Given the description of an element on the screen output the (x, y) to click on. 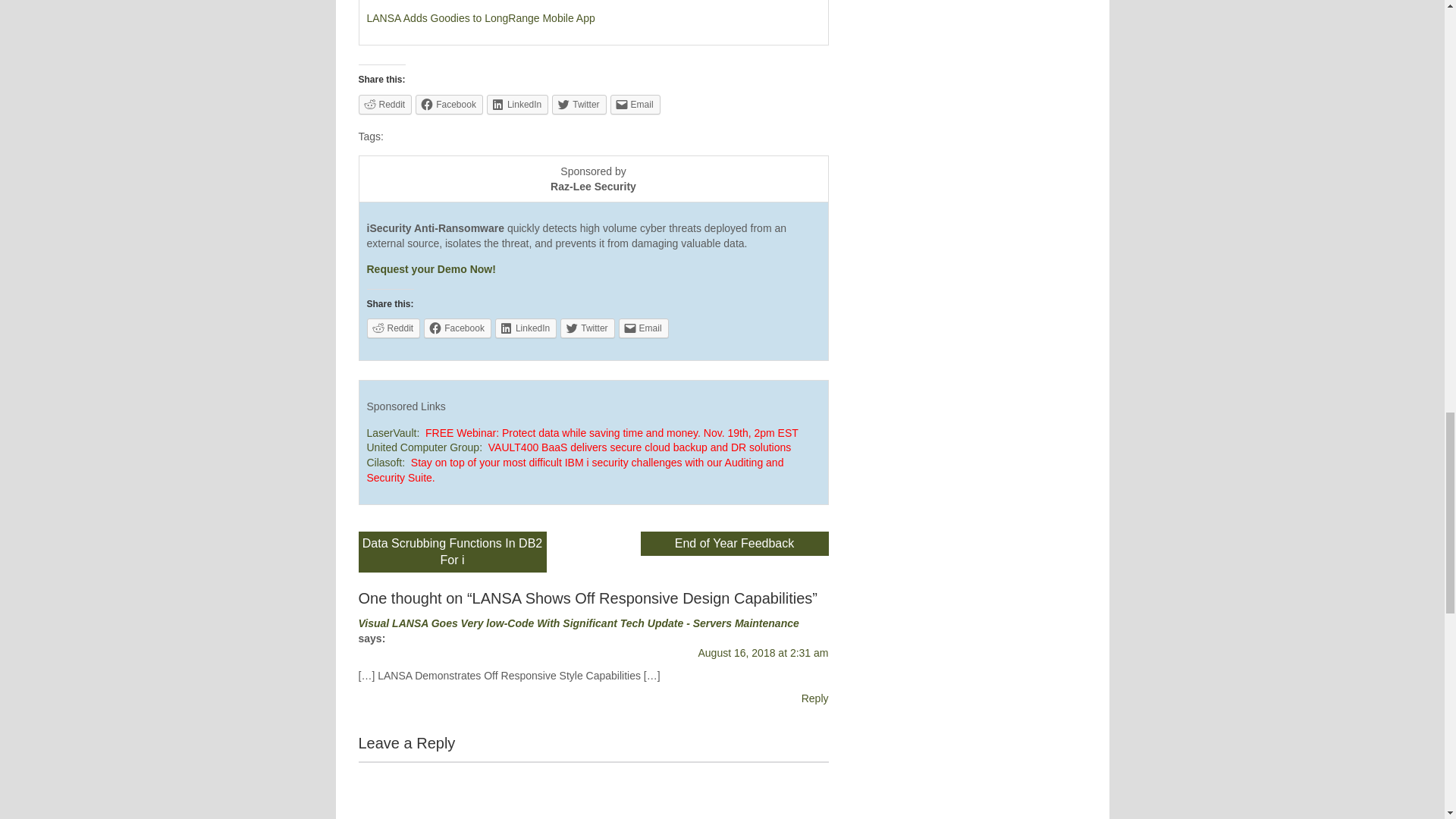
Data Scrubbing Functions In DB2 For i (452, 551)
Click to share on Facebook (448, 104)
Comment Form (593, 790)
LANSA Adds Goodies to LongRange Mobile App (480, 18)
Click to share on Twitter (587, 328)
Email (635, 104)
Click to share on LinkedIn (517, 104)
Facebook (448, 104)
